Given the description of an element on the screen output the (x, y) to click on. 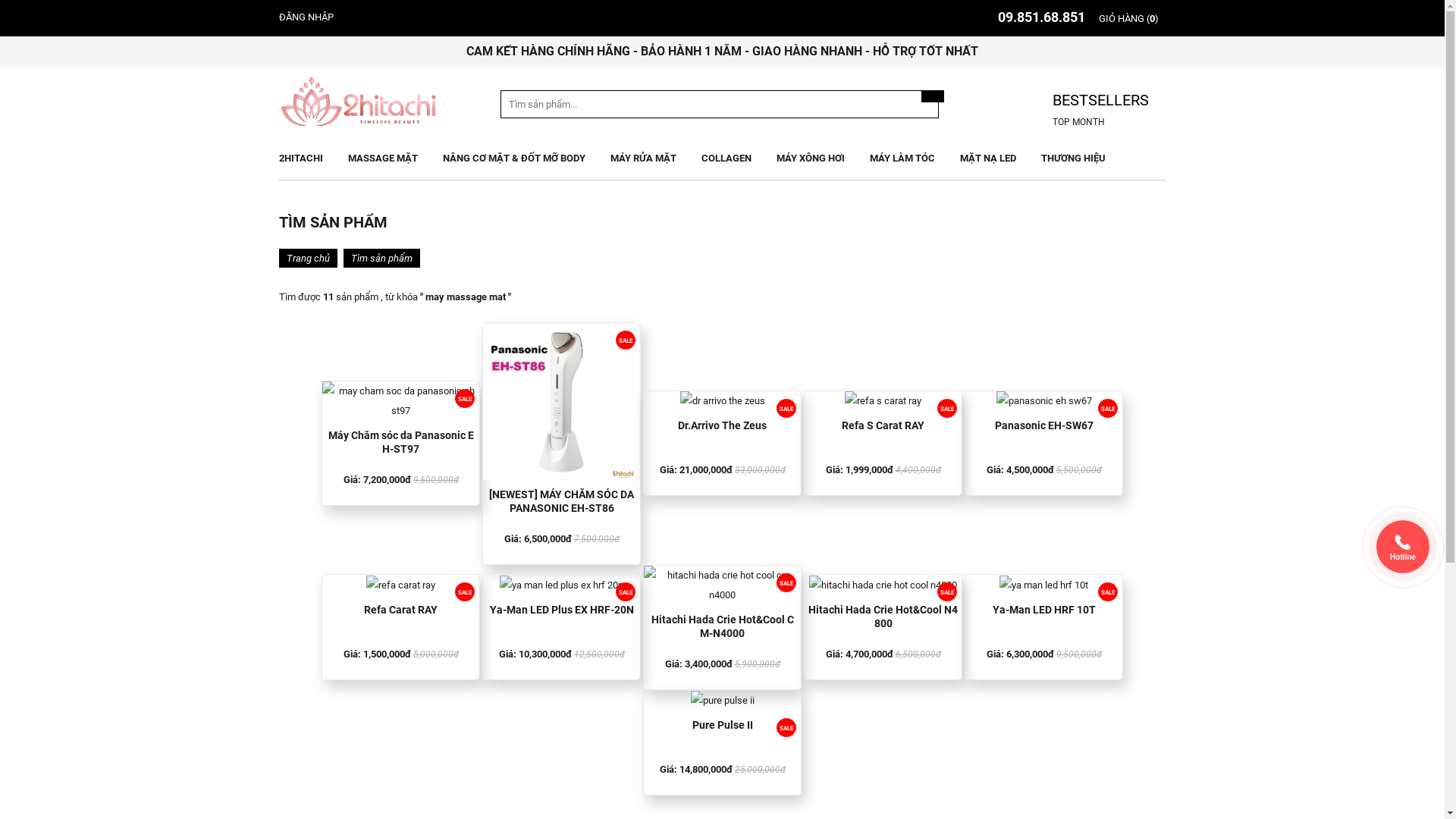
COLLAGEN Element type: text (726, 158)
BESTSELLERS
TOP MONTH Element type: text (1090, 110)
2HITACHI Element type: text (306, 158)
09.851.68.851 Element type: text (1041, 17)
